Given the description of an element on the screen output the (x, y) to click on. 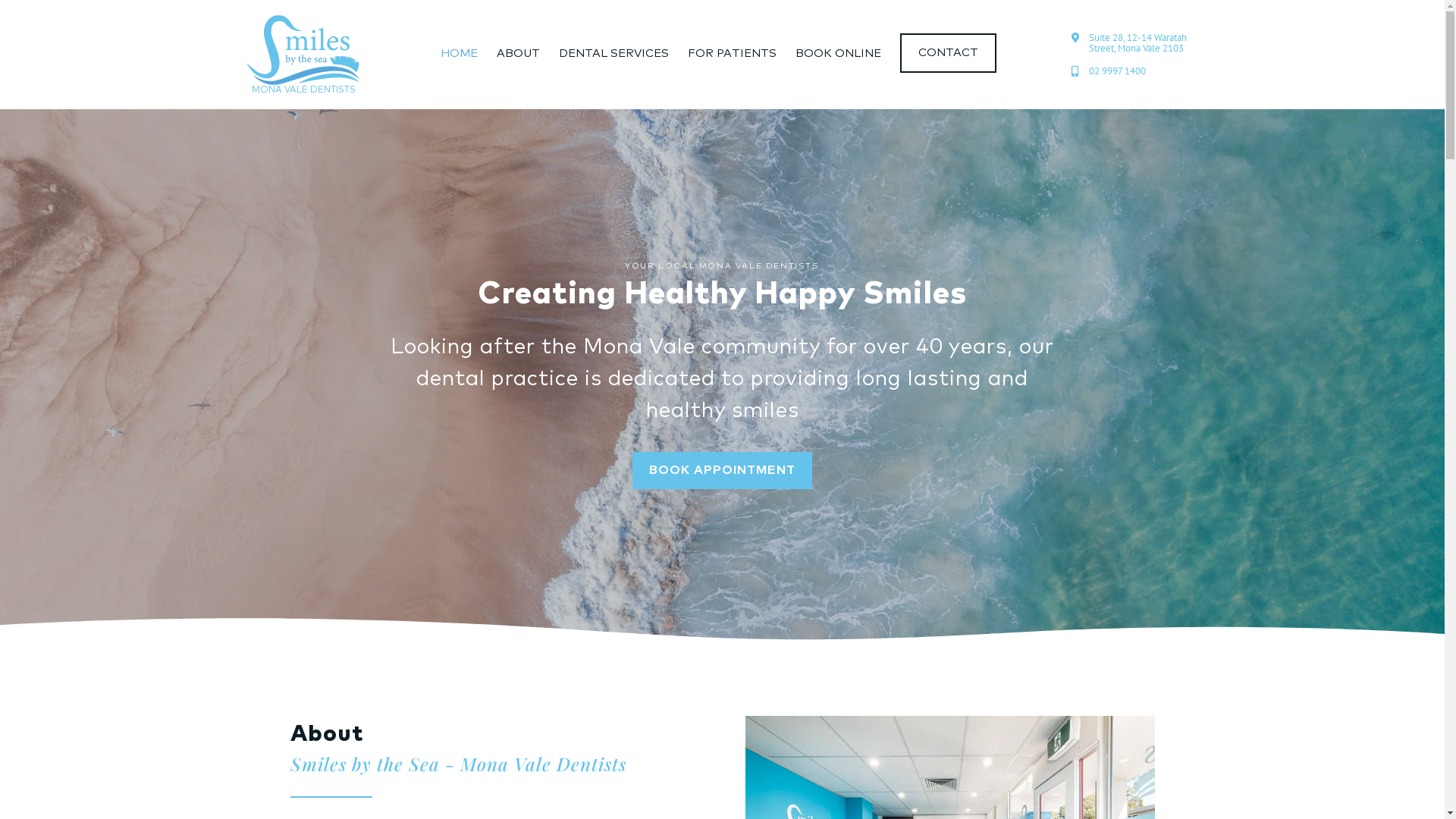
ABOUT Element type: text (517, 52)
FOR PATIENTS Element type: text (731, 52)
BOOK APPOINTMENT Element type: text (722, 470)
Suite 28, 12-14 Waratah Street, Mona Vale 2103 Element type: text (1133, 43)
CONTACT Element type: text (948, 52)
BOOK ONLINE Element type: text (838, 52)
DENTAL SERVICES Element type: text (613, 52)
HOME Element type: text (458, 52)
02 9997 1400 Element type: text (1133, 70)
